Given the description of an element on the screen output the (x, y) to click on. 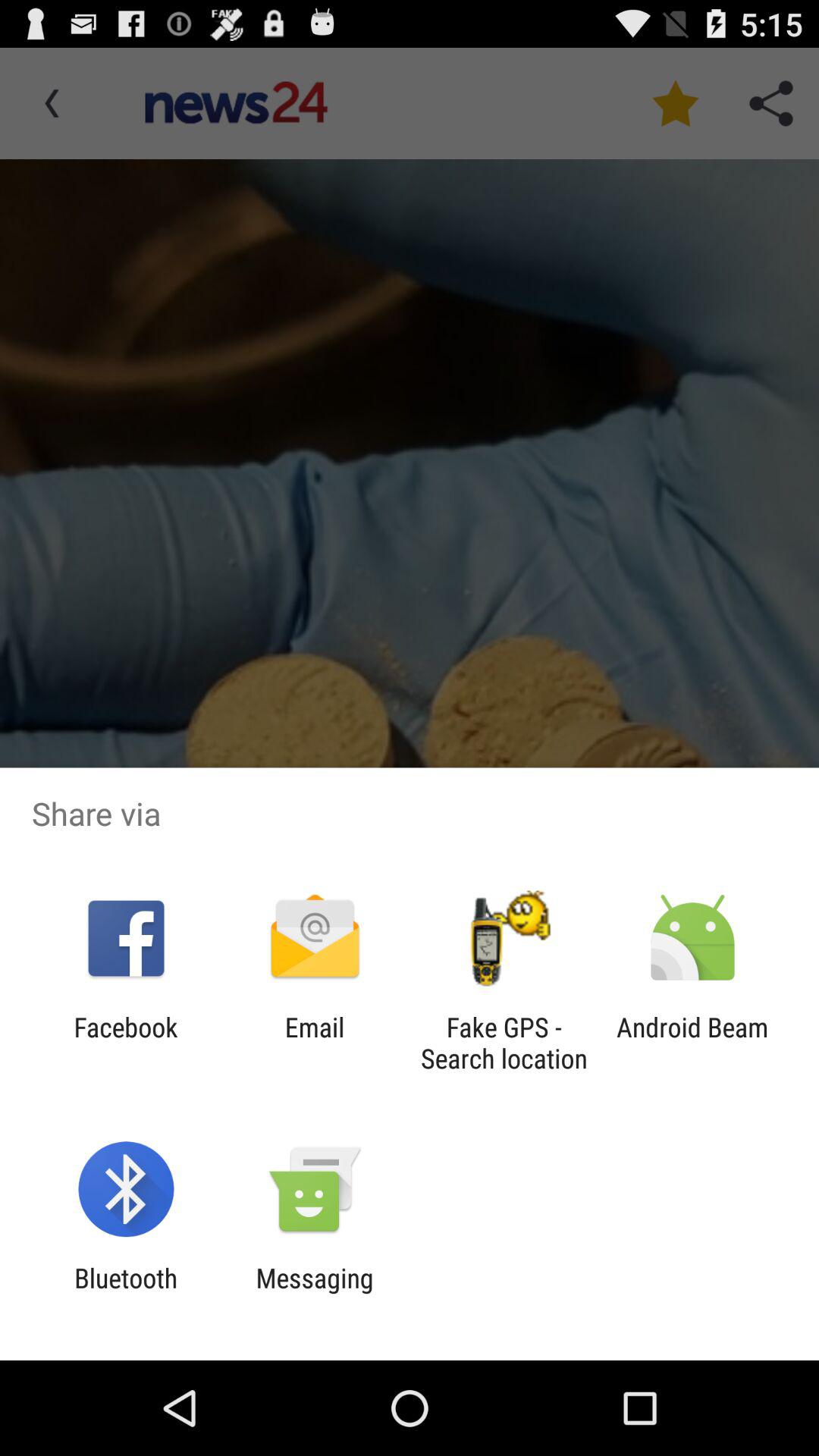
click messaging (314, 1293)
